Given the description of an element on the screen output the (x, y) to click on. 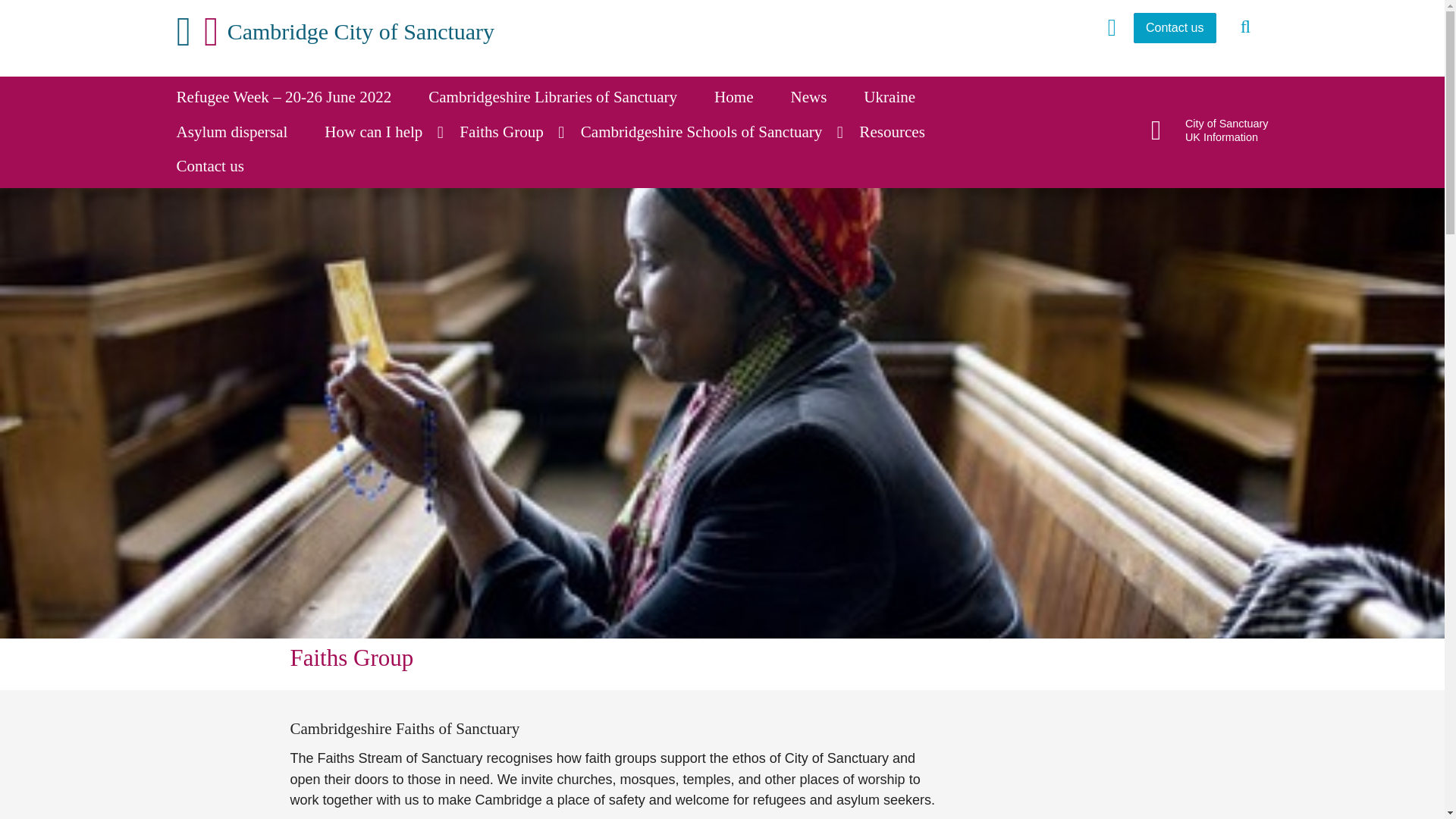
Cambridgeshire Libraries of Sanctuary (561, 97)
Resources (901, 132)
Search (1246, 27)
Contact us (219, 166)
How can I help (383, 132)
Contact us (1174, 28)
Faiths Group (511, 132)
Home (743, 97)
News (818, 97)
Cambridge City of Sanctuary (335, 31)
